Given the description of an element on the screen output the (x, y) to click on. 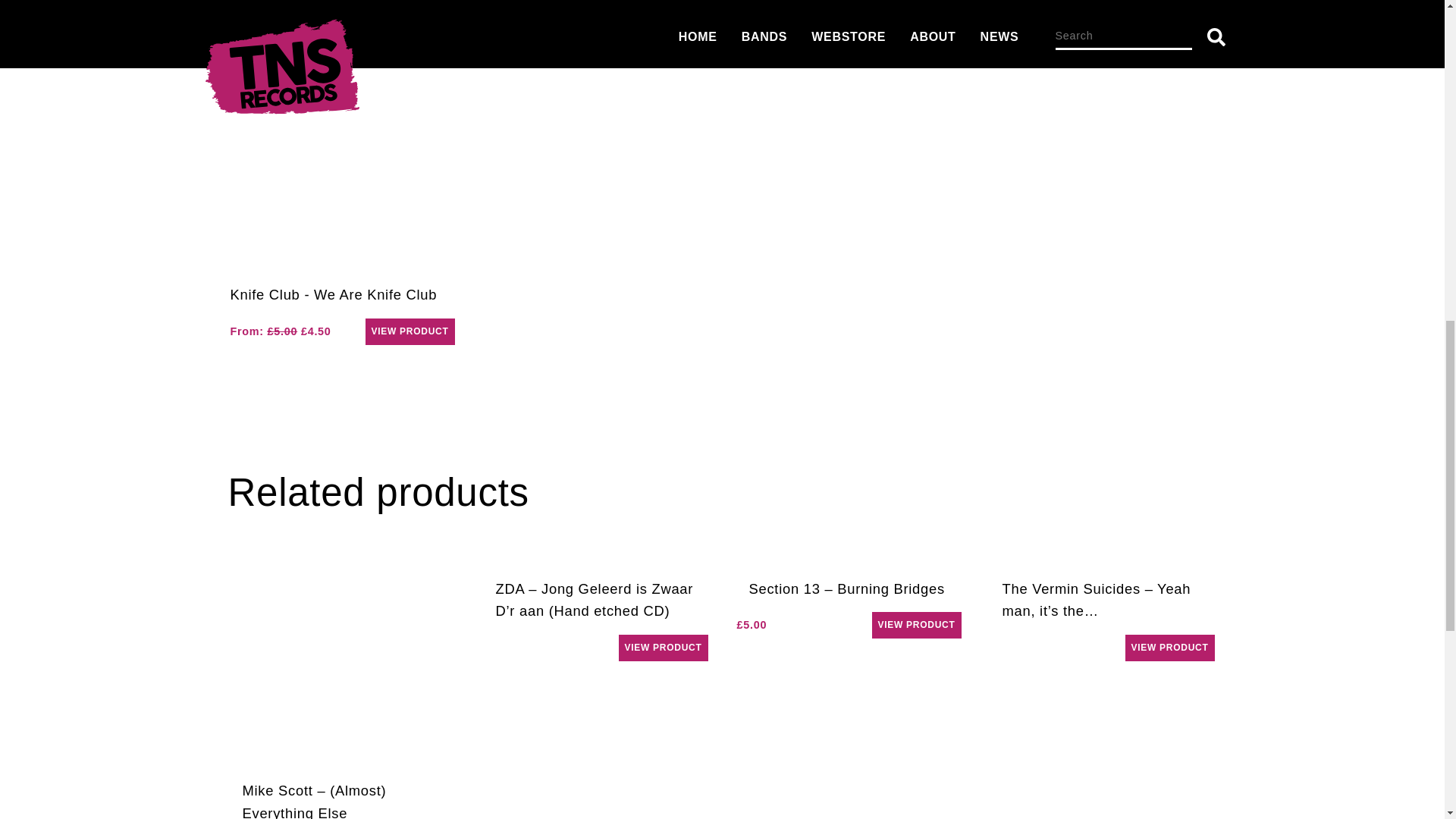
Knife Club - We Are Knife Club (280, 331)
Knife Club - We Are Knife Club (342, 158)
Knife Club - We Are Knife Club (409, 331)
Knife Club - We Are Knife Club (334, 294)
